Given the description of an element on the screen output the (x, y) to click on. 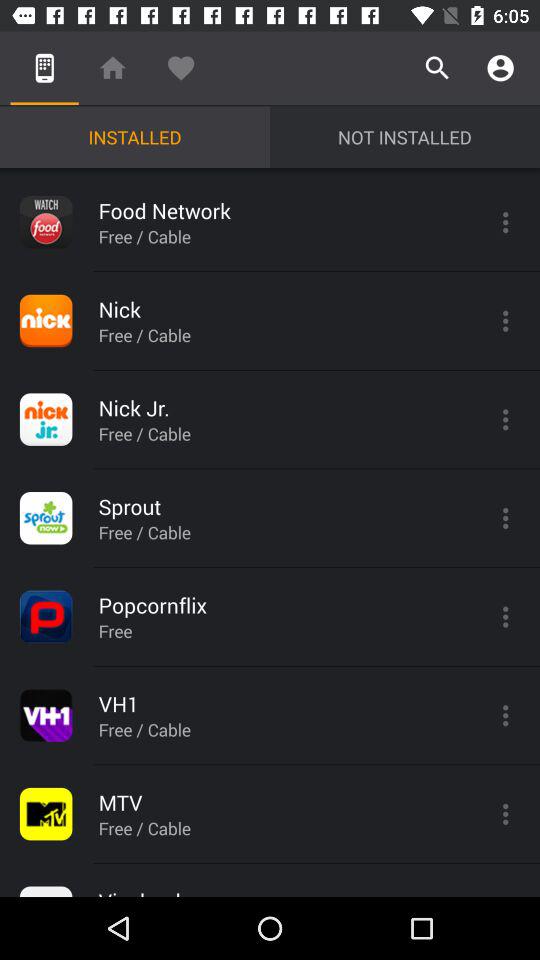
tap the icon above not installed (500, 67)
